Given the description of an element on the screen output the (x, y) to click on. 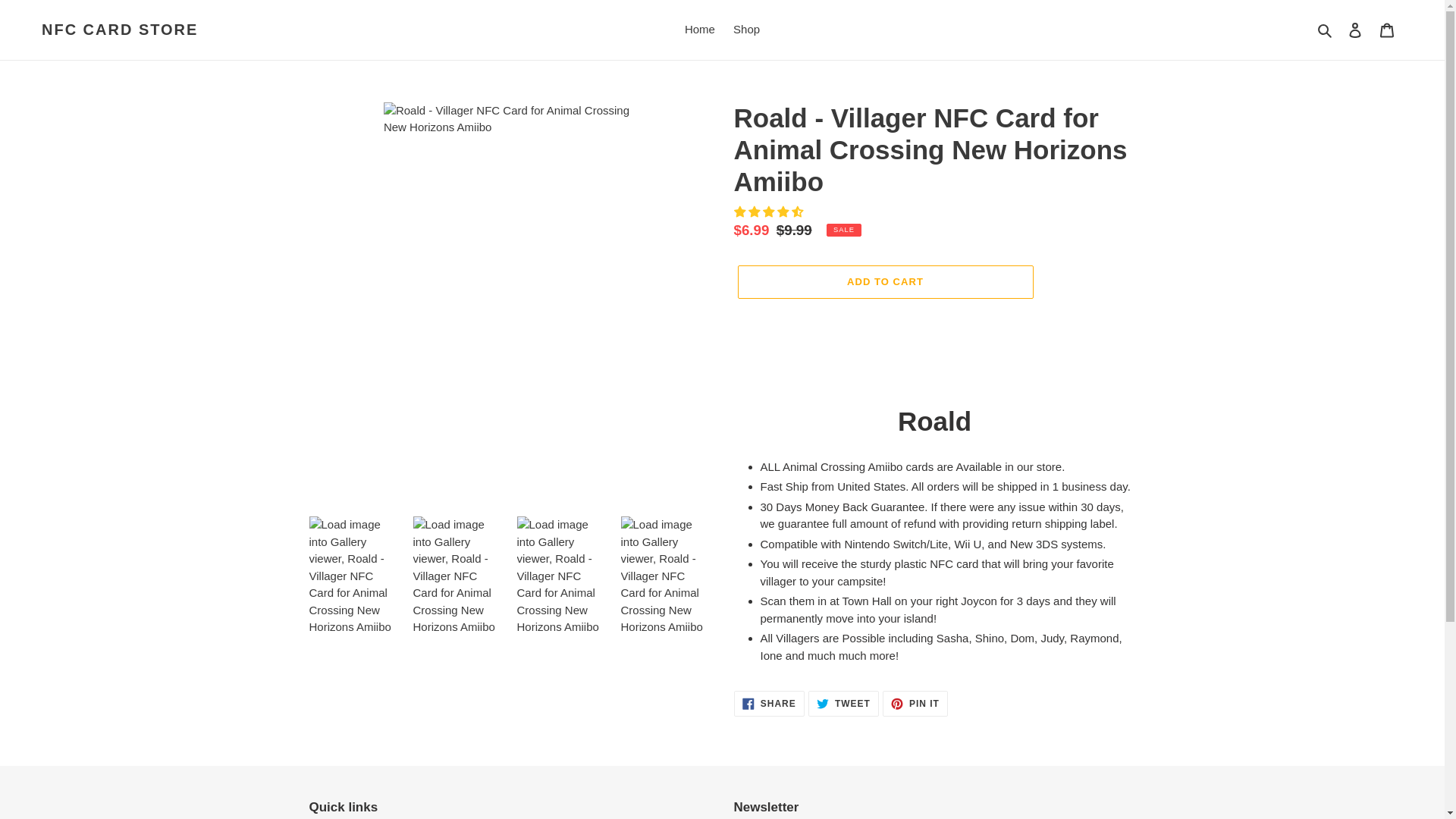
NFC CARD STORE (120, 29)
Shop (746, 29)
Cart (1387, 29)
Search (1326, 29)
Home (843, 703)
Log in (699, 29)
ADD TO CART (1355, 29)
